Given the description of an element on the screen output the (x, y) to click on. 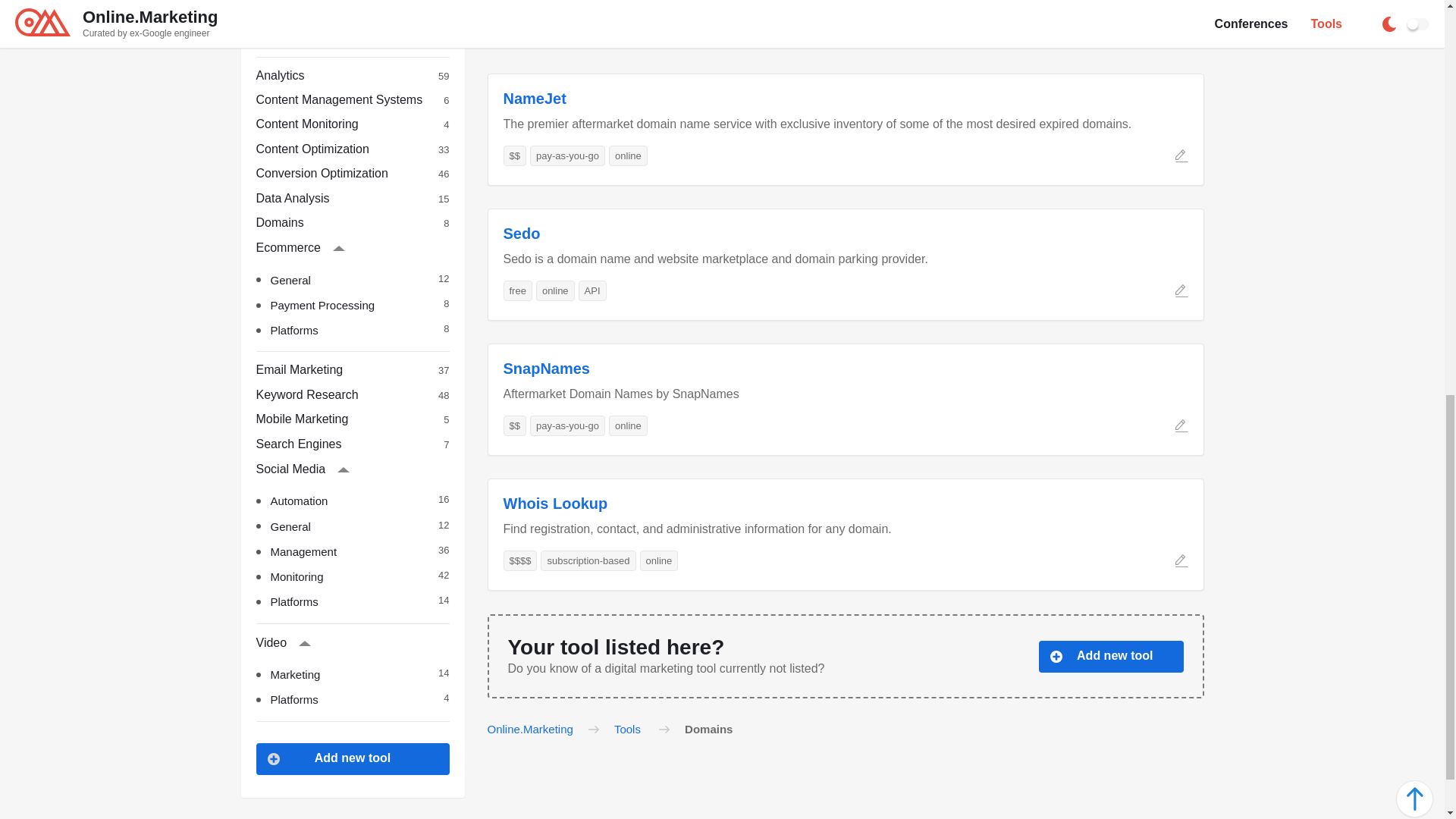
Runs: Online (555, 290)
Runs: Online (627, 425)
Has API (363, 329)
Pricing is average (592, 290)
Commitment: Free (514, 155)
Commitment: Pay-As-You-Go (352, 75)
